Given the description of an element on the screen output the (x, y) to click on. 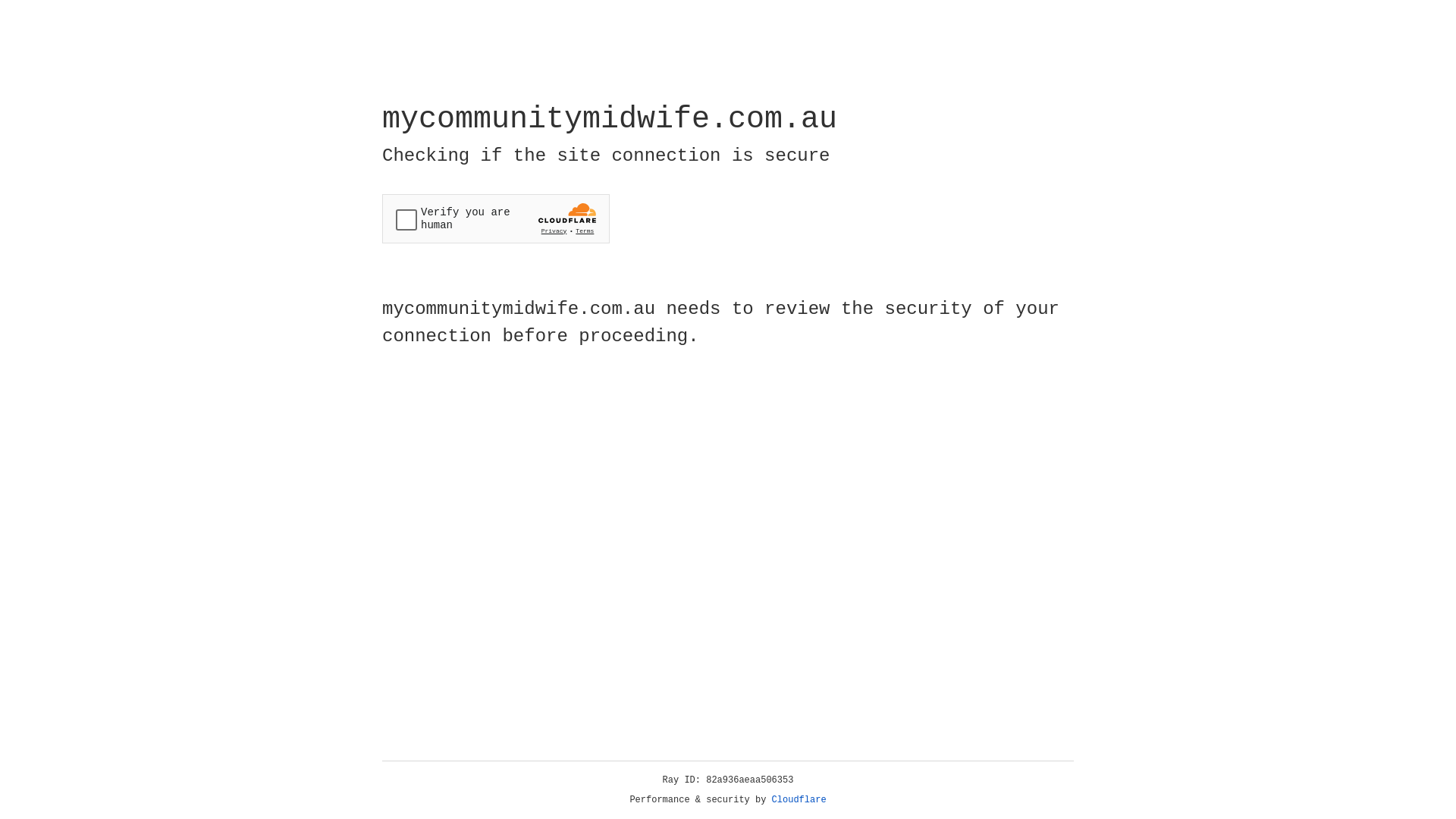
Cloudflare Element type: text (798, 799)
Widget containing a Cloudflare security challenge Element type: hover (495, 218)
